Given the description of an element on the screen output the (x, y) to click on. 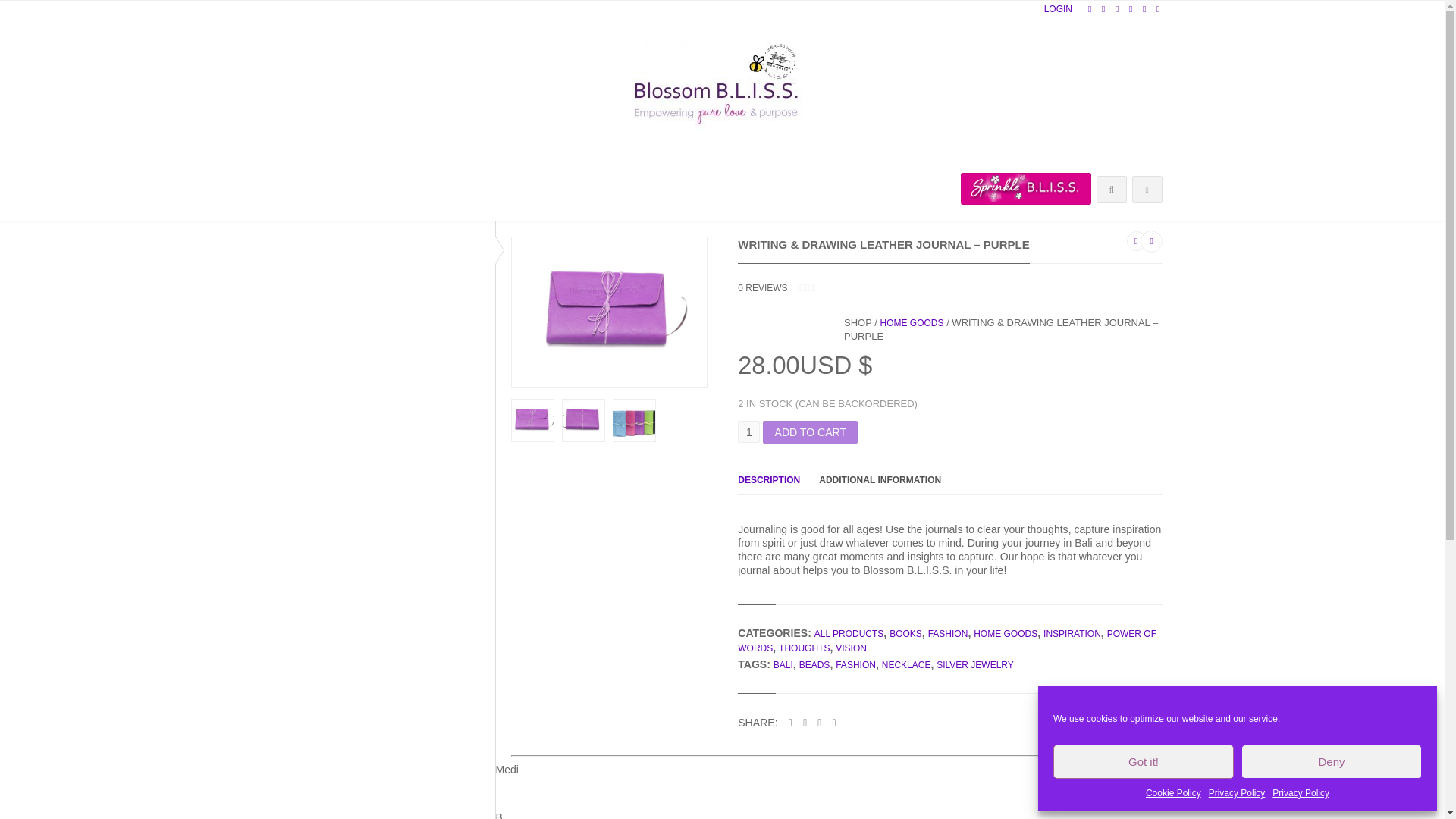
Privacy Policy (1300, 793)
Search (335, 262)
1 (749, 431)
Got it! (1142, 761)
LOGIN (1057, 10)
Deny (1331, 761)
Rated 0 out of 5 (822, 287)
Cookie Policy (1173, 793)
Privacy Policy (1236, 793)
